Given the description of an element on the screen output the (x, y) to click on. 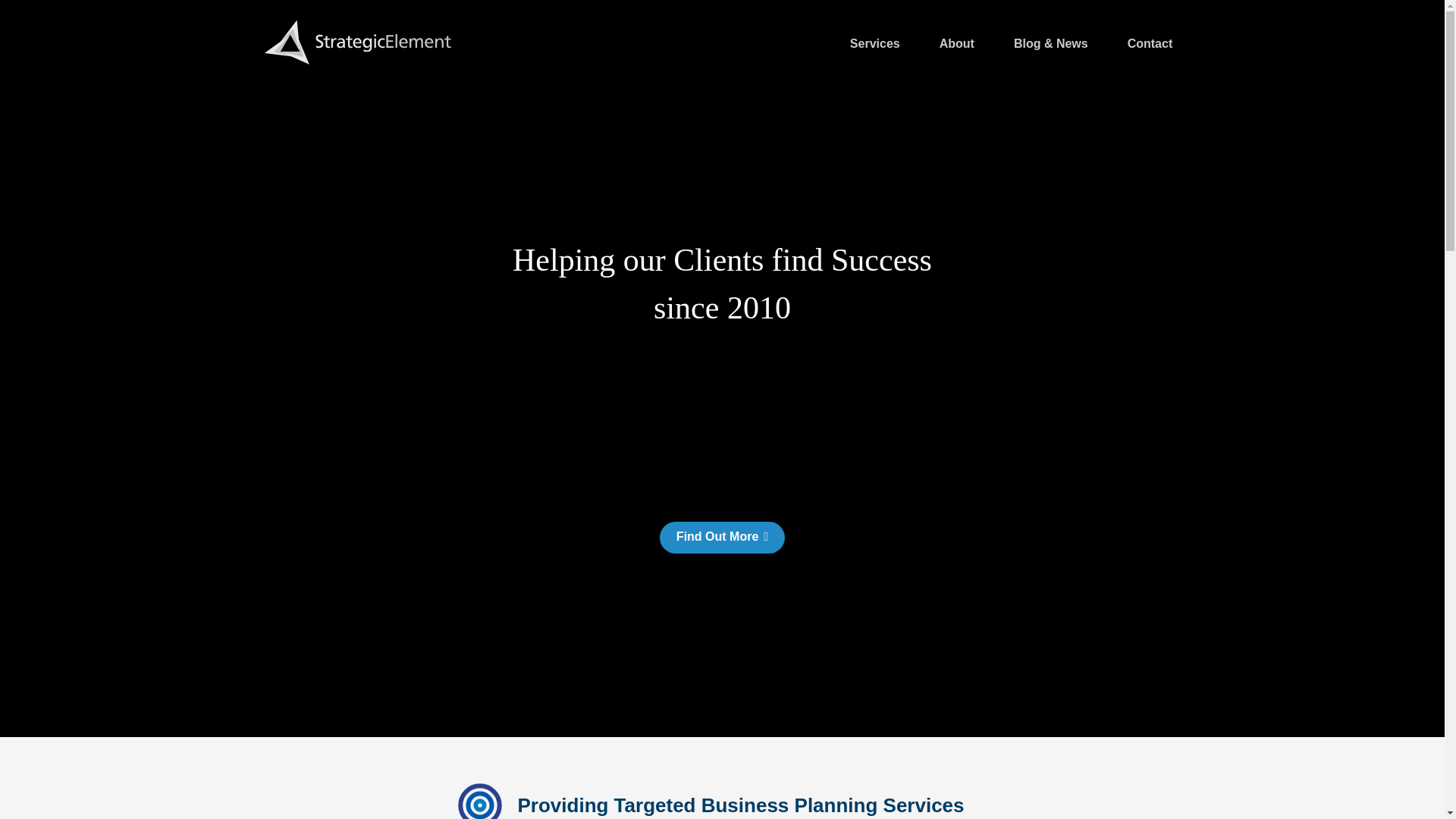
Find Out More (721, 537)
Services (875, 45)
Contact (1149, 45)
About (956, 45)
